Given the description of an element on the screen output the (x, y) to click on. 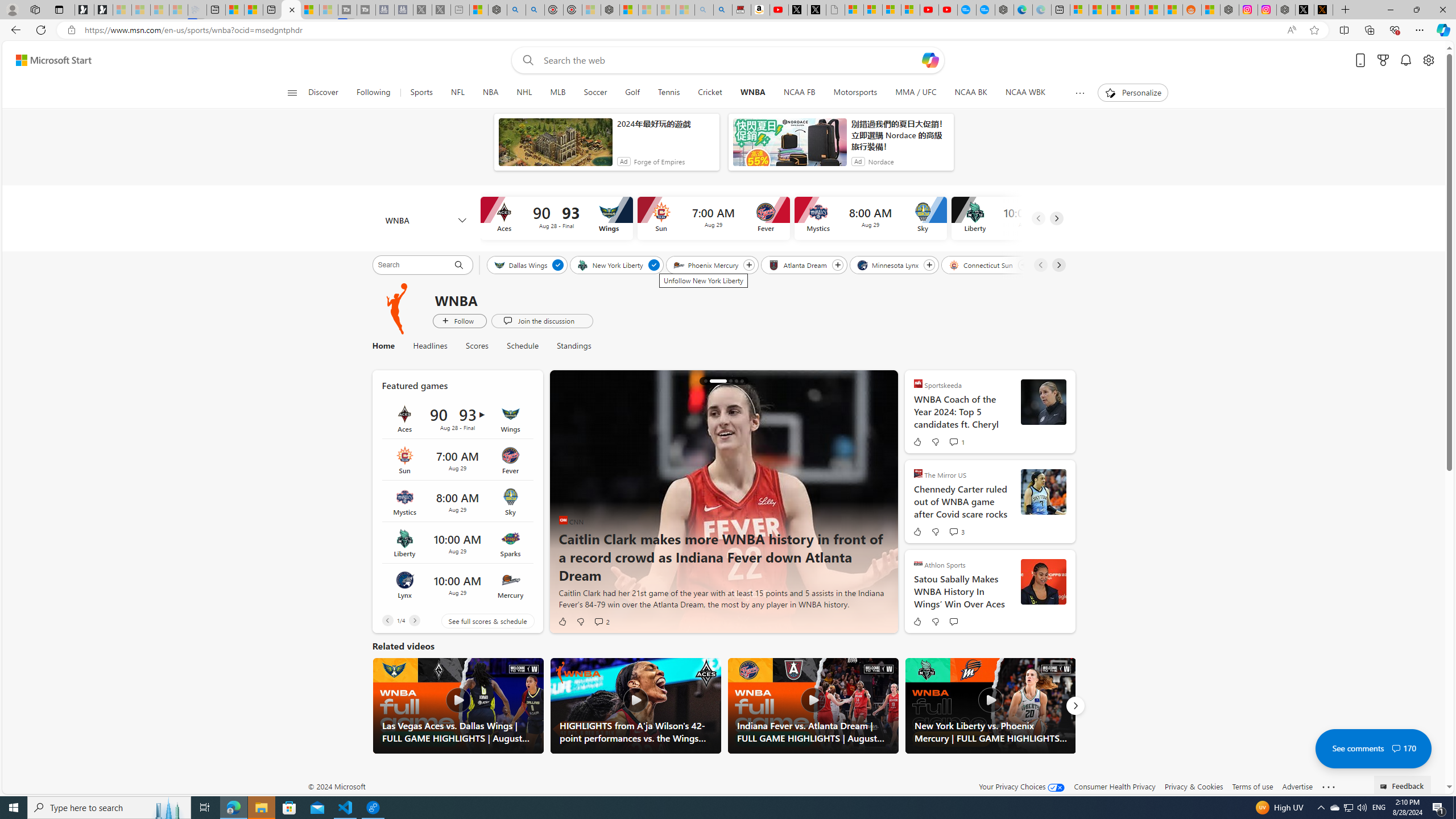
WNBA (425, 220)
Class: button-glyph (292, 92)
Sports (421, 92)
WNBA (397, 308)
next (882, 501)
Sportskeeda (917, 383)
Consumer Health Privacy (1115, 786)
Advertise (1297, 785)
The most popular Google 'how to' searches (985, 9)
Show more topics (1079, 92)
NCAA WBK (1024, 92)
